Given the description of an element on the screen output the (x, y) to click on. 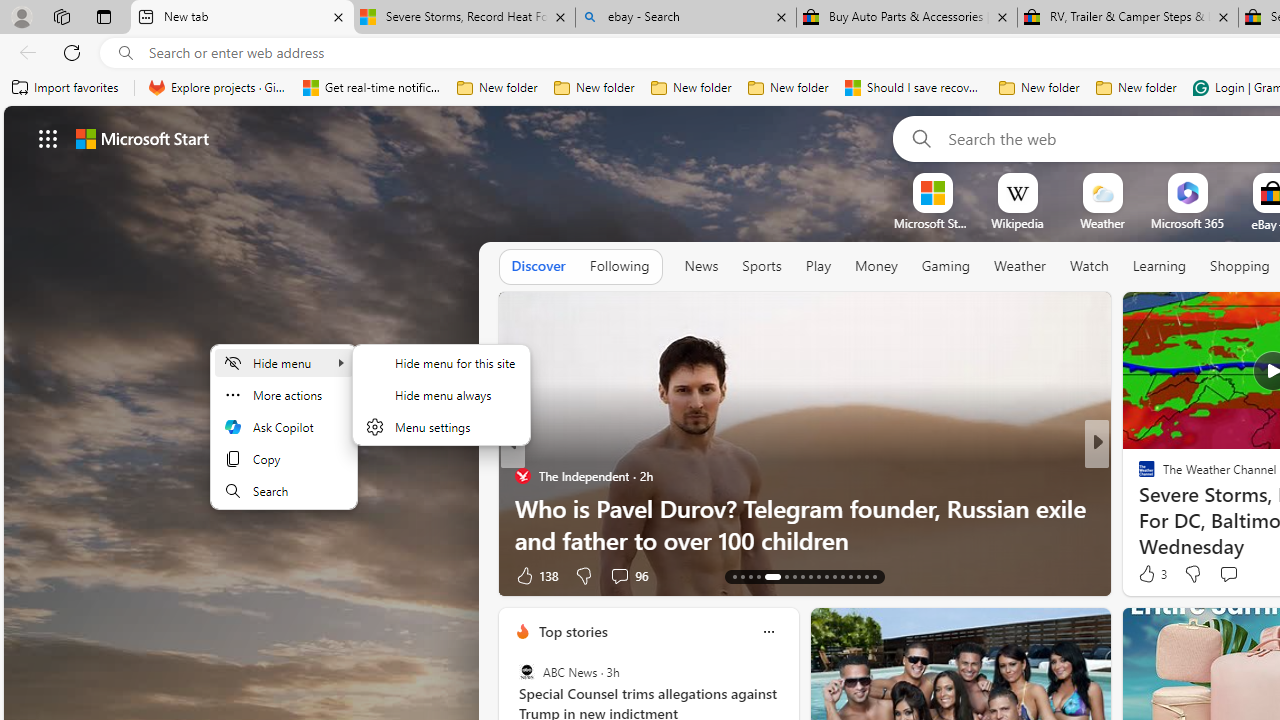
More Options (1219, 179)
116 Like (1151, 574)
View comments 8 Comment (1229, 575)
New folder (1136, 88)
3 Like (1151, 574)
TheStreet (1138, 507)
Play (817, 265)
AutomationID: tab-26 (850, 576)
102 Like (1151, 574)
More actions (284, 394)
Dailymotion (1138, 507)
Copy (284, 458)
News (701, 267)
View comments 1 Comment (1234, 575)
